Given the description of an element on the screen output the (x, y) to click on. 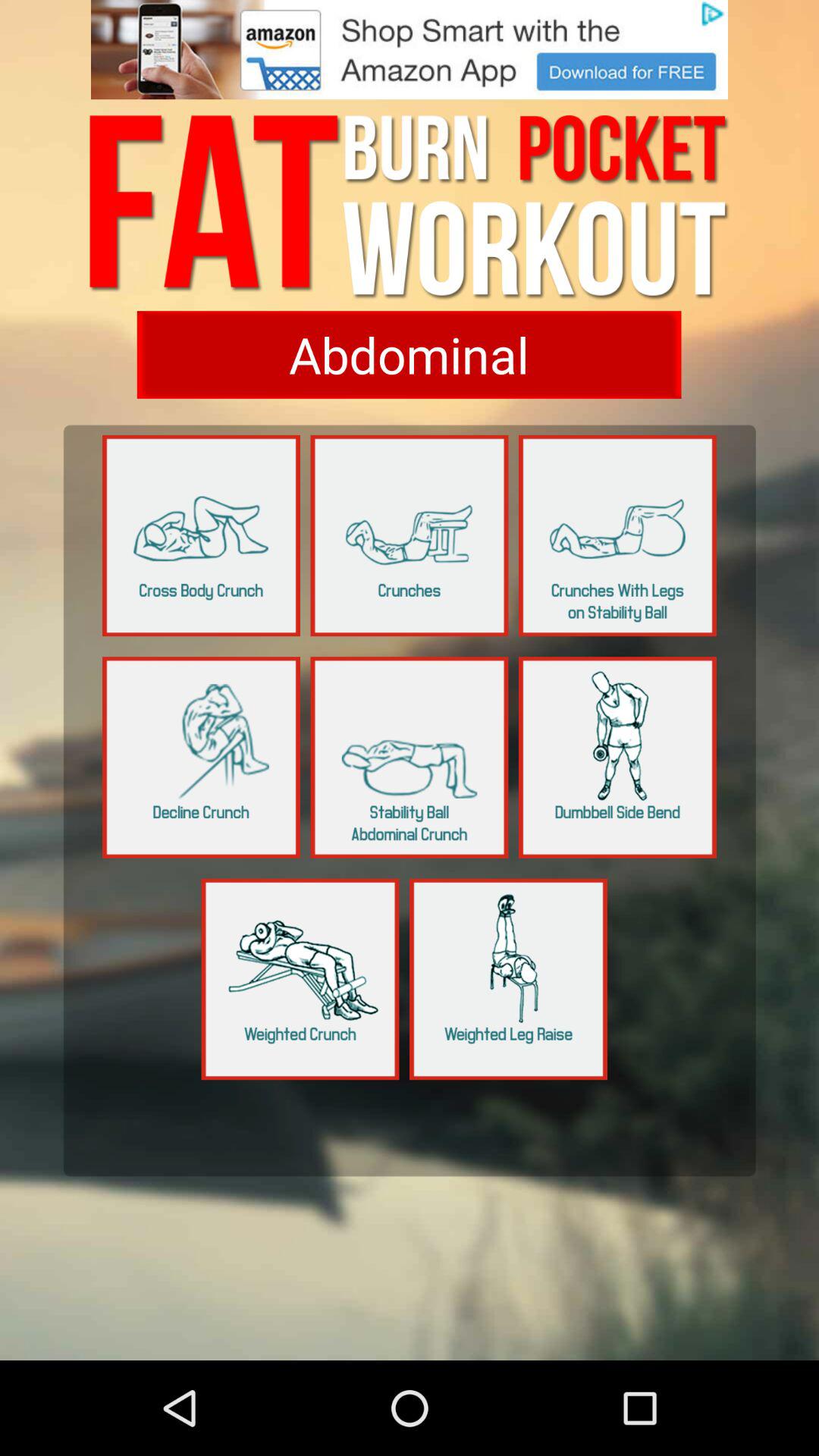
choose the selection (409, 354)
